Given the description of an element on the screen output the (x, y) to click on. 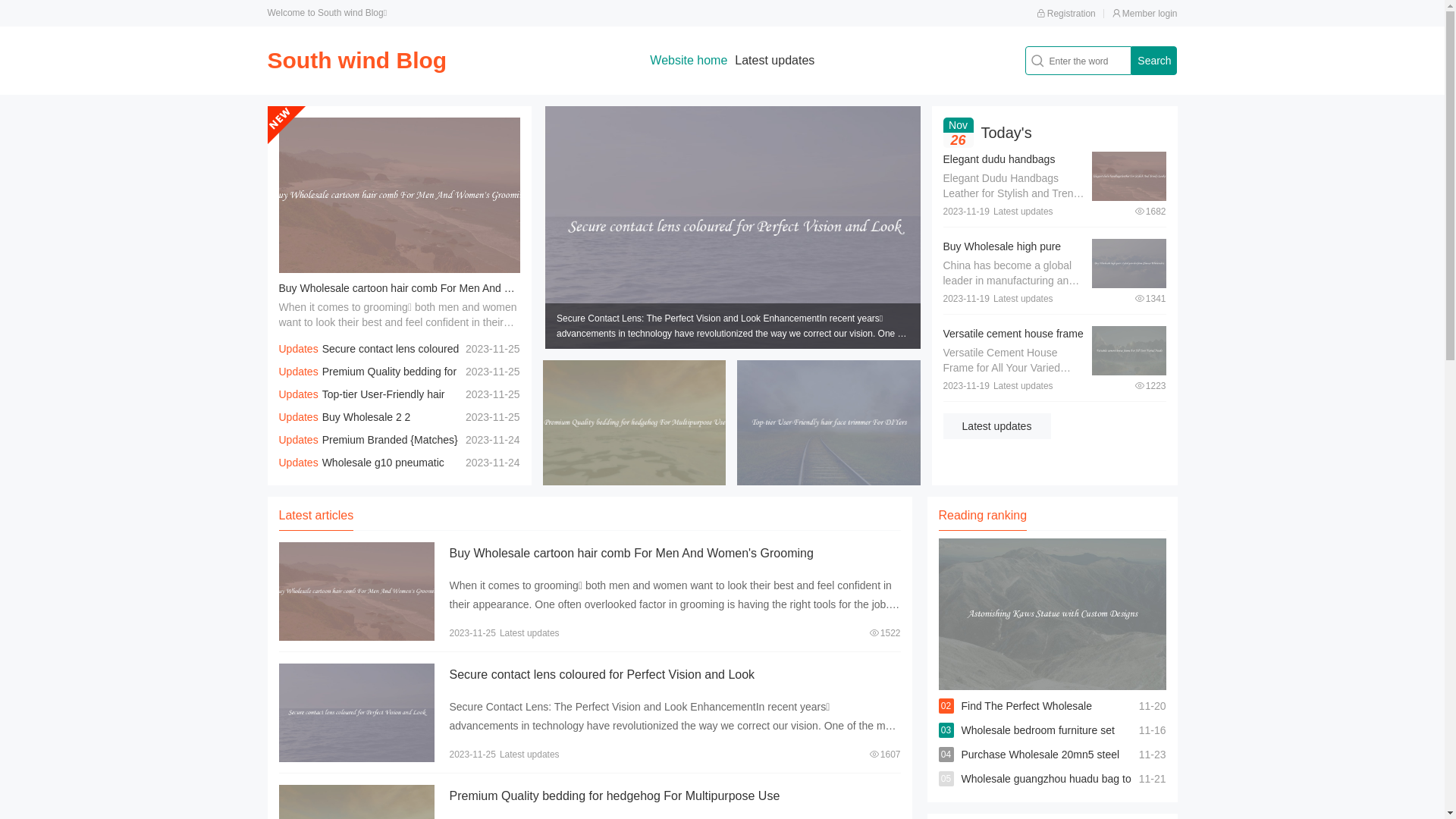
Secure contact lens coloured for Perfect Vision and Look Element type: text (369, 359)
Versatile cement house frame For All Your Varied Needs Element type: text (1013, 340)
Buy Wholesale cartoon hair comb For Men And Women's Grooming Element type: text (438, 288)
Wholesale g10 pneumatic paving breaker For Ground Excavation Element type: text (370, 473)
Premium Quality bedding for hedgehog For Multipurpose Use Element type: text (613, 795)
Latest updates Element type: text (774, 59)
Top-tier User-Friendly hair face trimmer For DIYers Element type: text (362, 405)
Wholesale guangzhou huadu bag to Ship Goods with Confidence Element type: text (1046, 790)
Secure contact lens coloured for Perfect Vision and Look Element type: text (601, 674)
Search Element type: text (1153, 60)
South wind Blog Element type: text (356, 59)
Elegant dudu handbags leather For Stylish And Trendy Looks Element type: text (999, 174)
Latest updates Element type: text (997, 426)
Member login Element type: text (1144, 13)
Website home Element type: text (688, 59)
Premium Quality bedding for hedgehog For Multipurpose Use Element type: text (368, 382)
Find The Perfect Wholesale harmonica professional Element type: text (1026, 717)
Registration Element type: text (1065, 13)
Purchase Wholesale 20mn5 steel plate For Industrial Purposes Element type: text (1040, 766)
Buy Wholesale cartoon hair comb For Men And Women's Grooming Element type: text (630, 552)
